Given the description of an element on the screen output the (x, y) to click on. 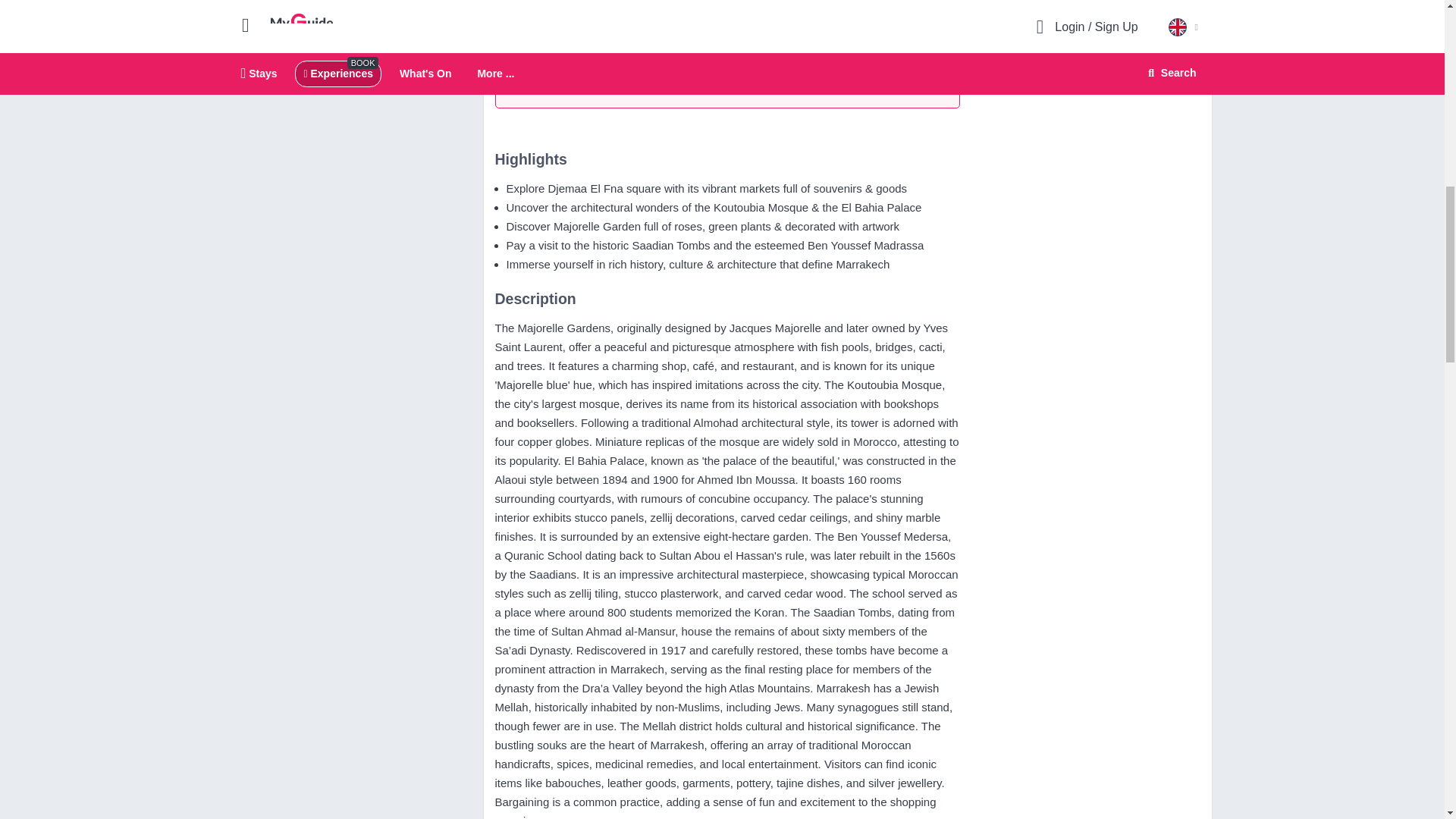
View All Experiences (570, 76)
